Given the description of an element on the screen output the (x, y) to click on. 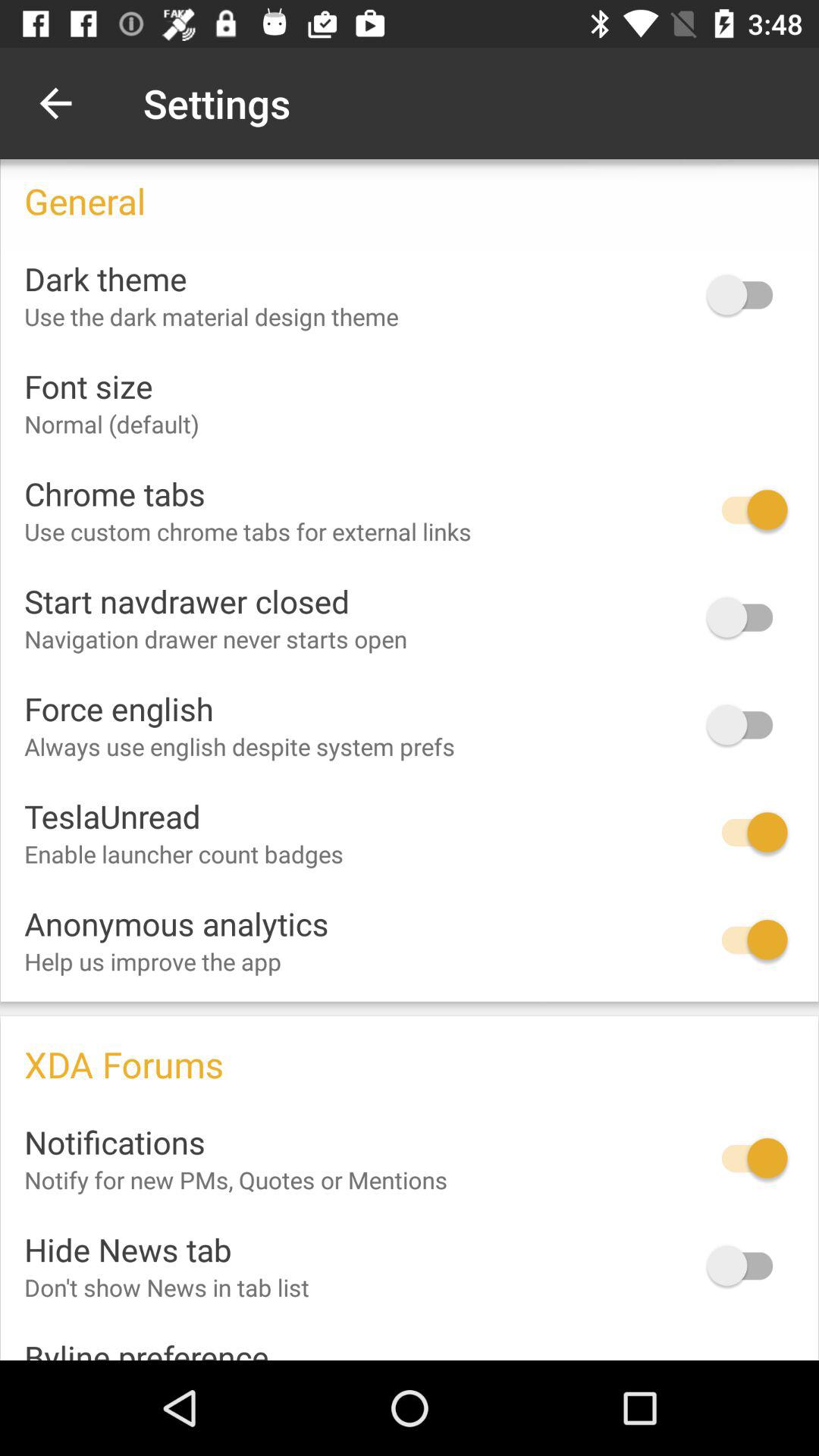
toggle (747, 939)
